Given the description of an element on the screen output the (x, y) to click on. 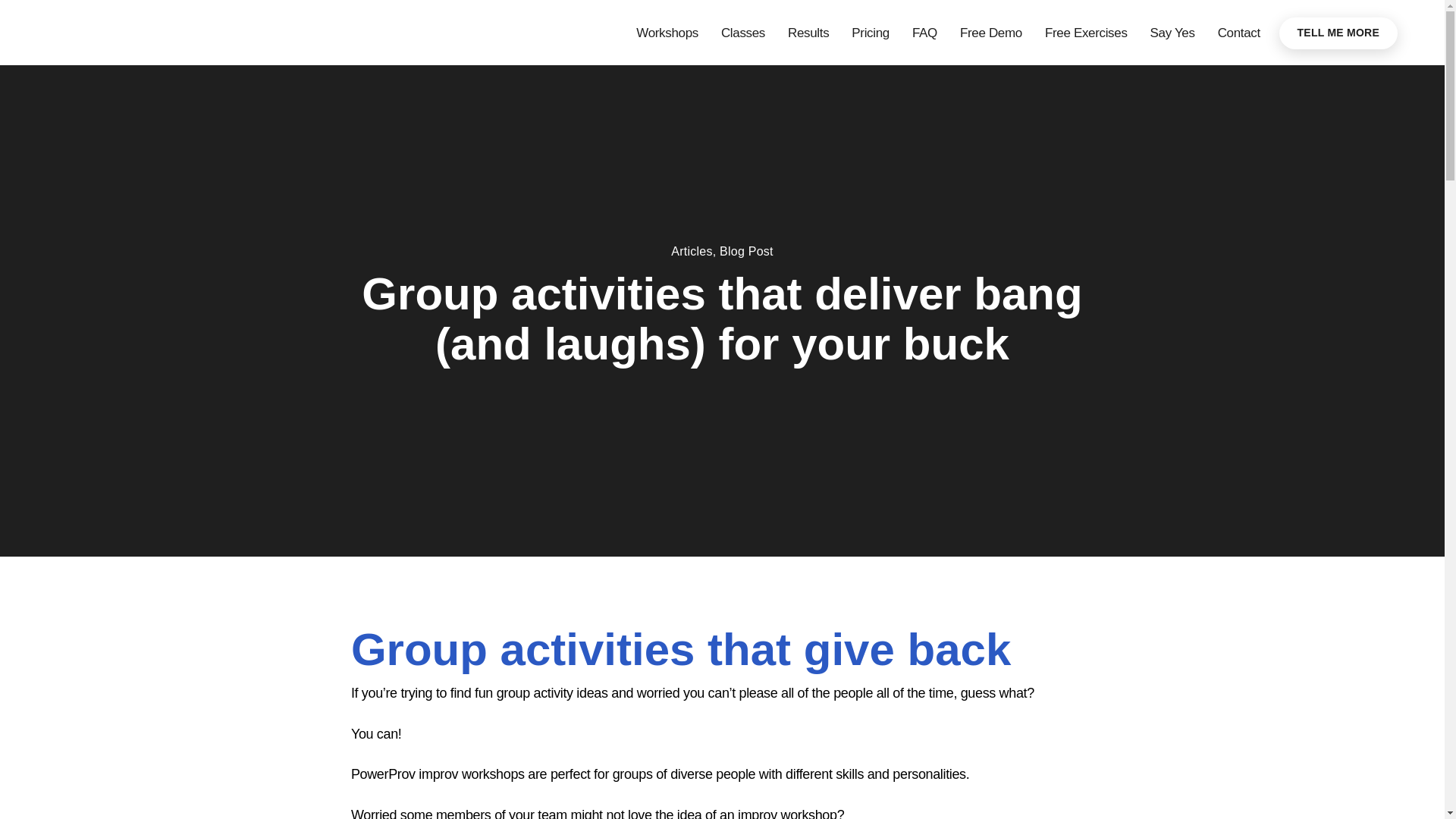
Say Yes (1172, 32)
Free Exercises (1085, 32)
TELL ME MORE (1338, 32)
Free Demo (990, 32)
TELL ME MORE (1338, 32)
Articles (691, 251)
Contact (1238, 32)
Workshops (667, 32)
Blog Post (746, 251)
Results (807, 32)
